Given the description of an element on the screen output the (x, y) to click on. 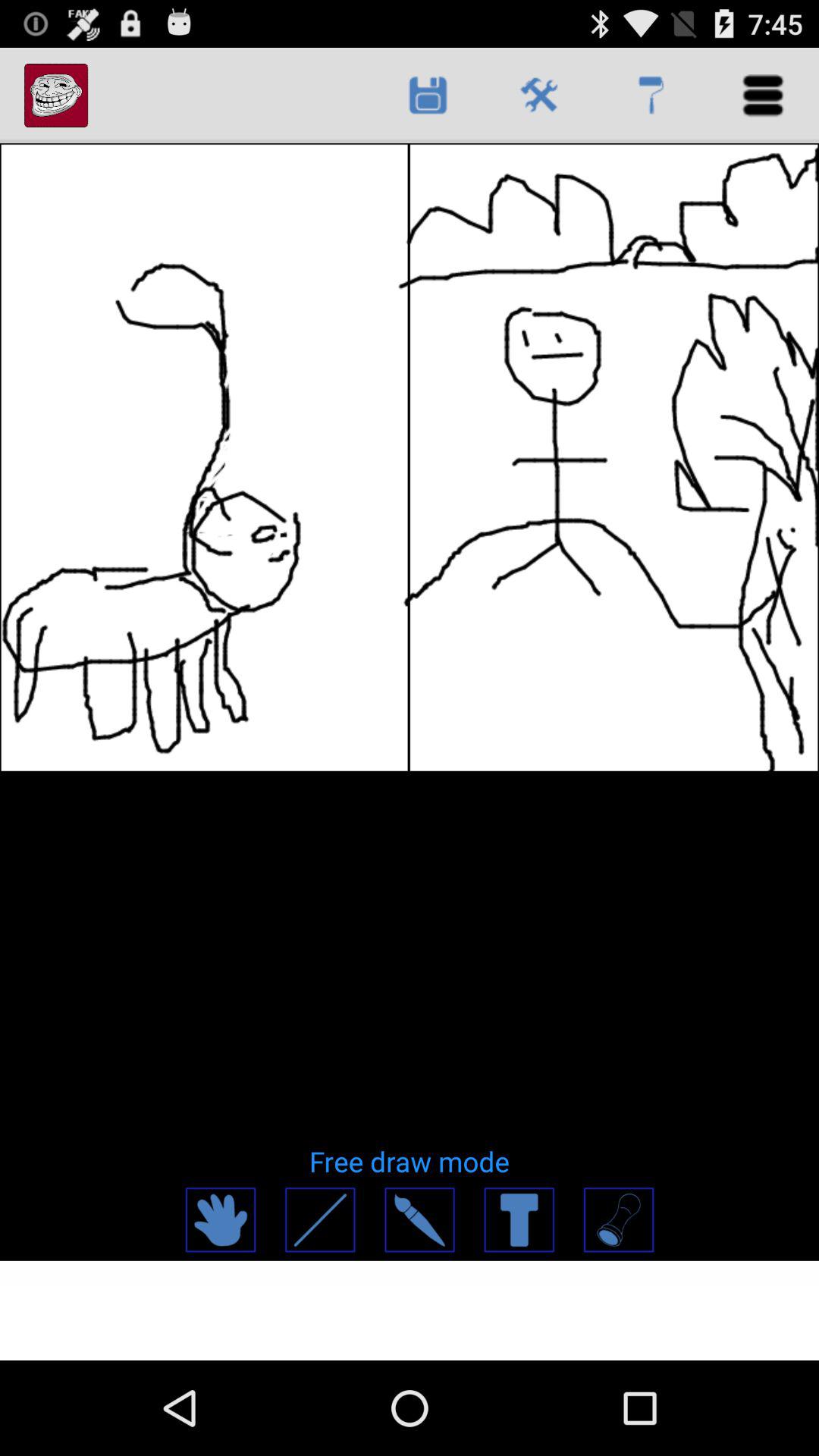
tap the icon at the bottom left corner (219, 1219)
